Given the description of an element on the screen output the (x, y) to click on. 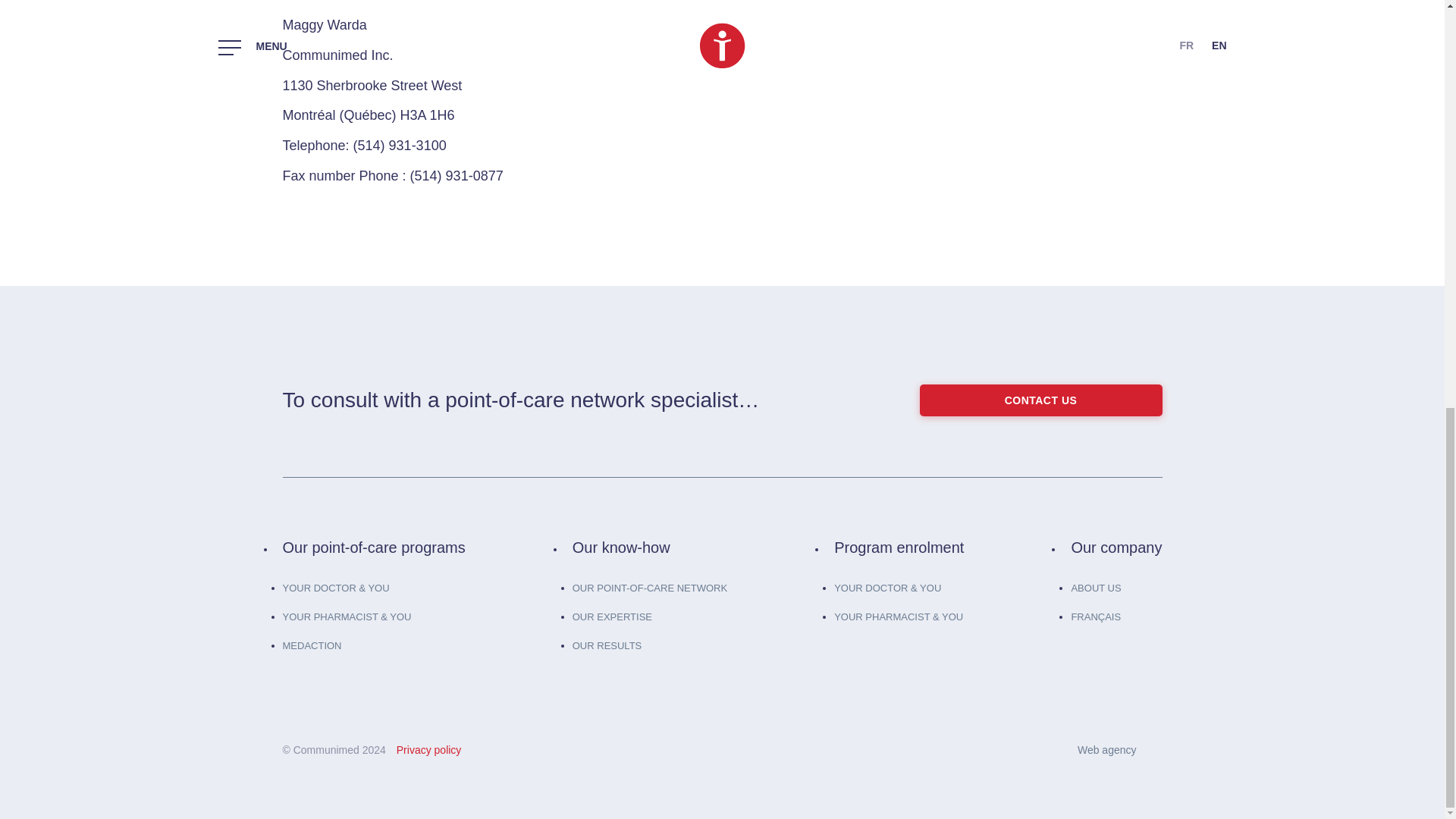
OUR RESULTS (607, 645)
ABOUT US (1095, 587)
Web agency (1119, 750)
Privacy policy (428, 749)
CONTACT US (1039, 400)
OUR EXPERTISE (612, 616)
MEDACTION (311, 645)
OUR POINT-OF-CARE NETWORK (649, 587)
